Given the description of an element on the screen output the (x, y) to click on. 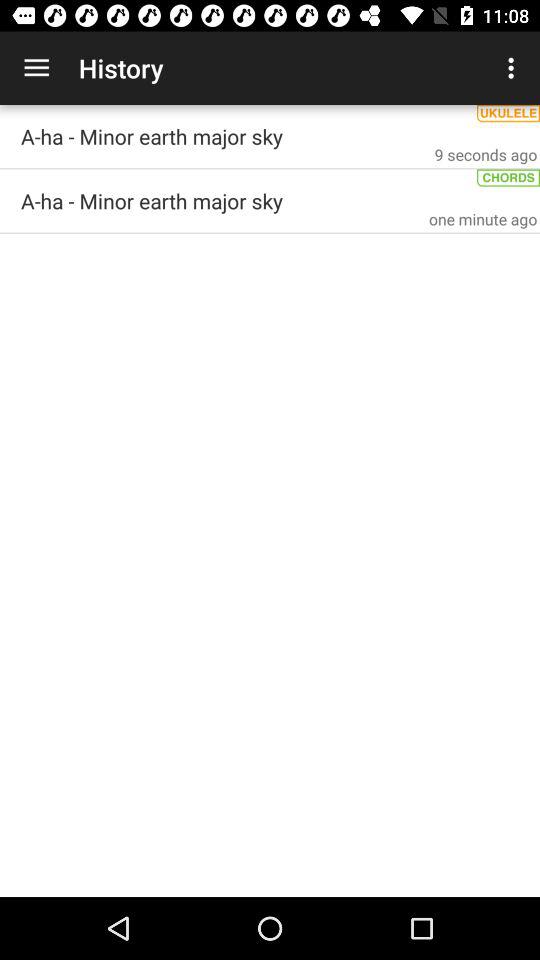
choose the icon next to the history item (513, 67)
